Given the description of an element on the screen output the (x, y) to click on. 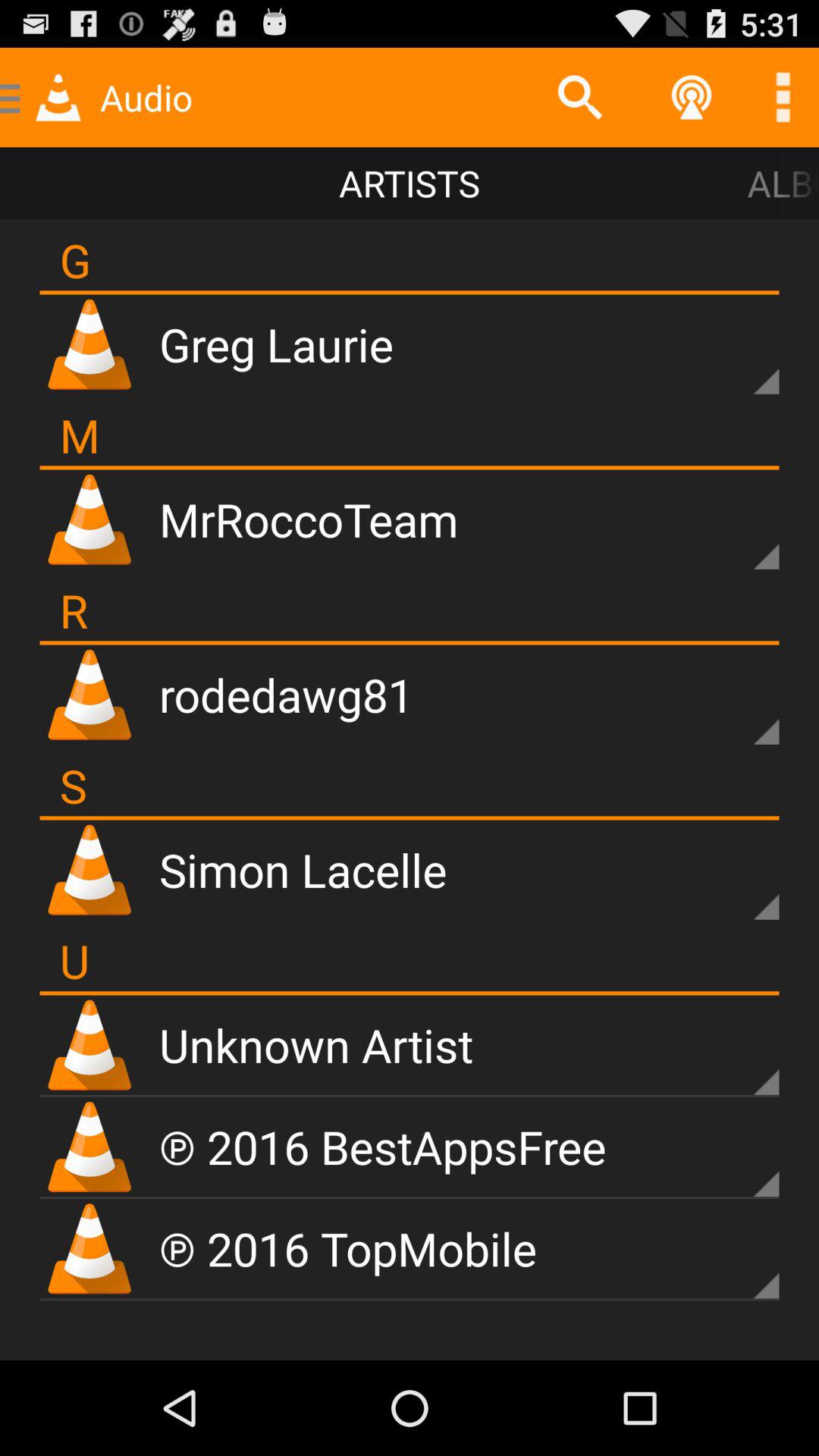
go to options (740, 880)
